Given the description of an element on the screen output the (x, y) to click on. 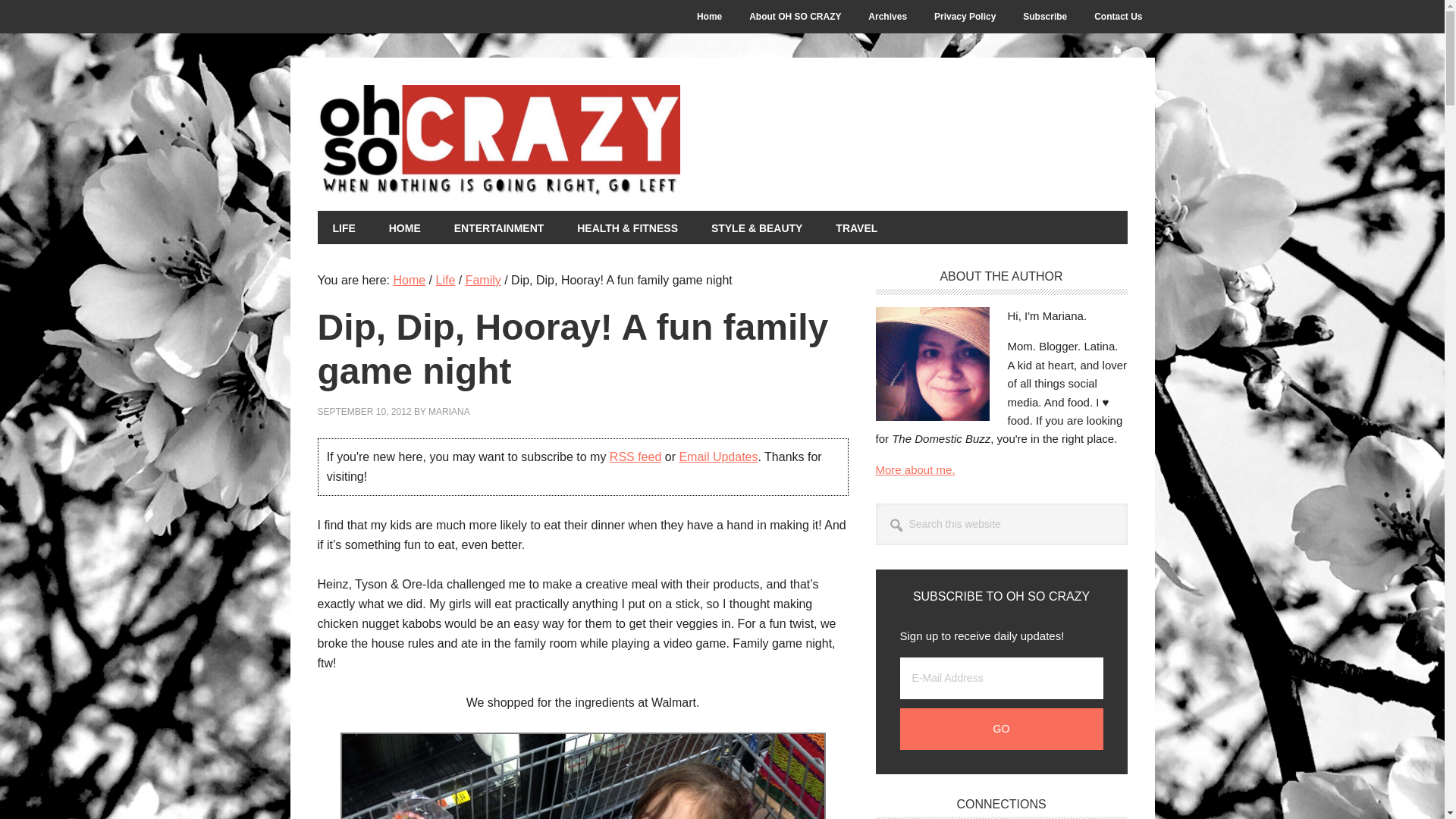
OH SO CRAZY (582, 142)
Go (1000, 729)
Subscribe (1044, 16)
Privacy Policy (964, 16)
About OH SO CRAZY (794, 16)
sitting in shopping cart by MrsMarianaP, on Flickr (582, 775)
HOME (404, 227)
Contact Us (1117, 16)
Archives (887, 16)
LIFE (343, 227)
Home (708, 16)
